Given the description of an element on the screen output the (x, y) to click on. 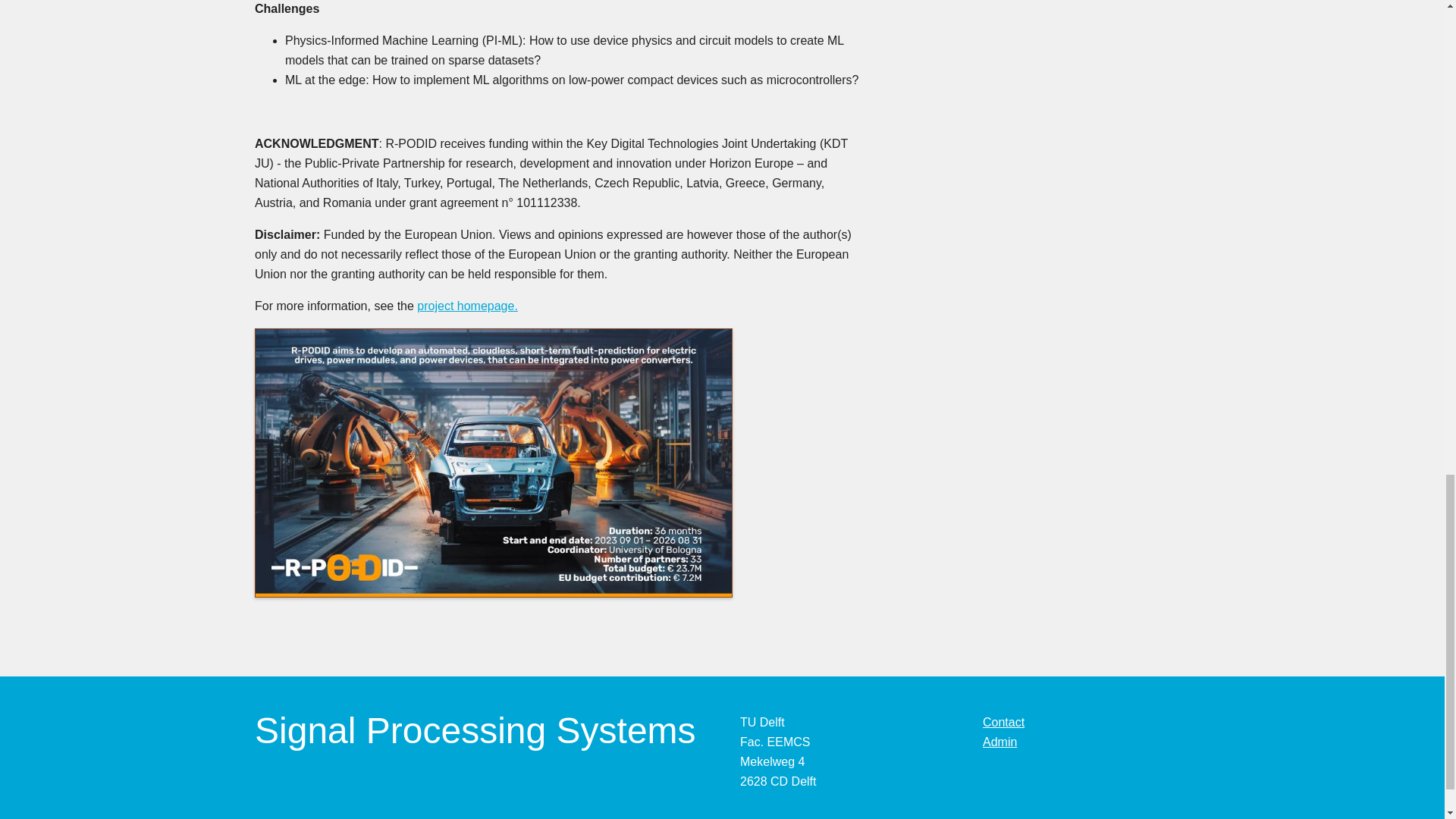
Contact (1003, 721)
Admin (999, 741)
project homepage. (467, 305)
